Given the description of an element on the screen output the (x, y) to click on. 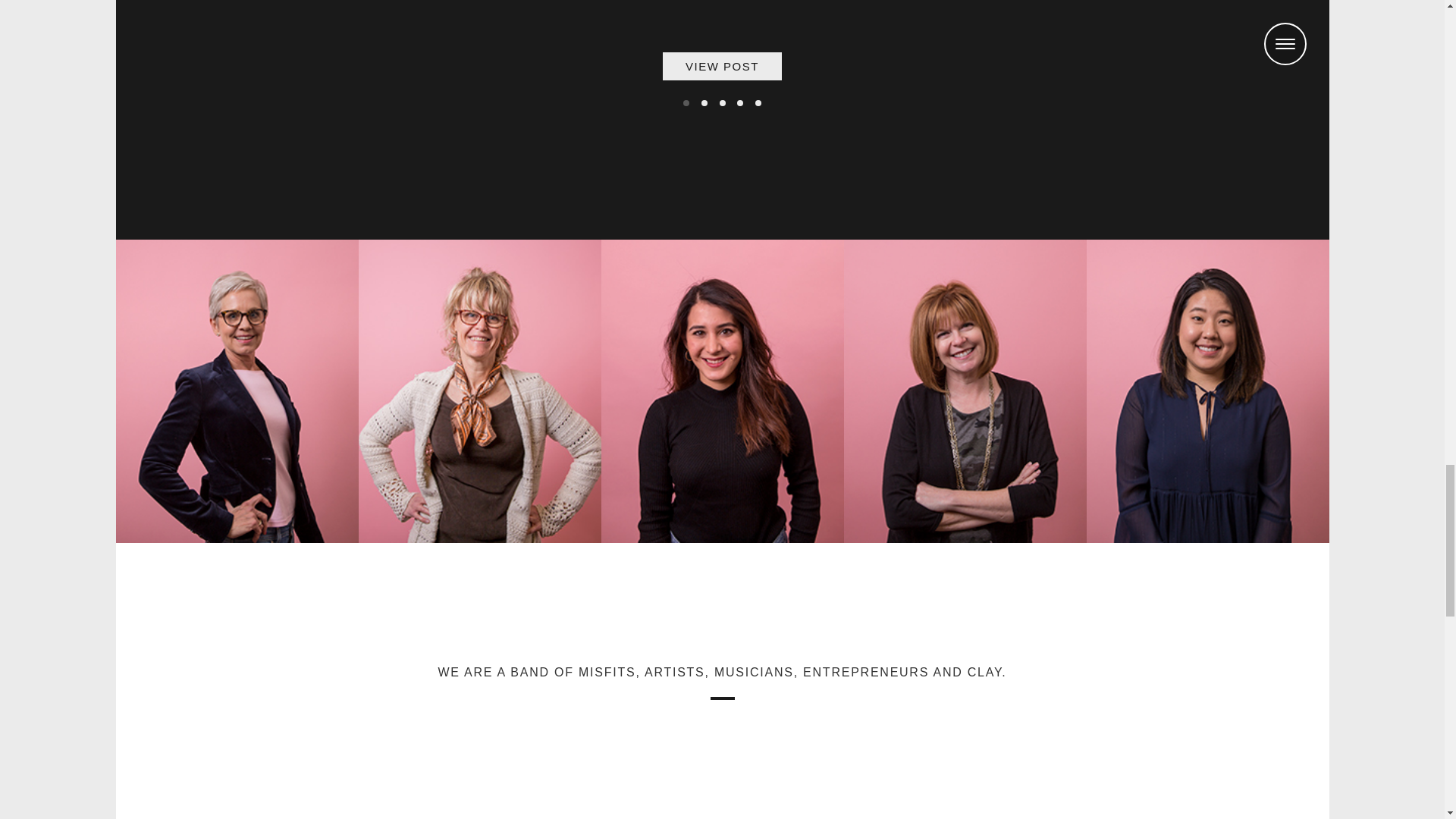
View Slide 4 (739, 102)
View Slide 2 (704, 102)
View Slide 5 (758, 102)
VIEW POST (721, 66)
View Slide 3 (722, 102)
View Slide 1 (685, 102)
